Given the description of an element on the screen output the (x, y) to click on. 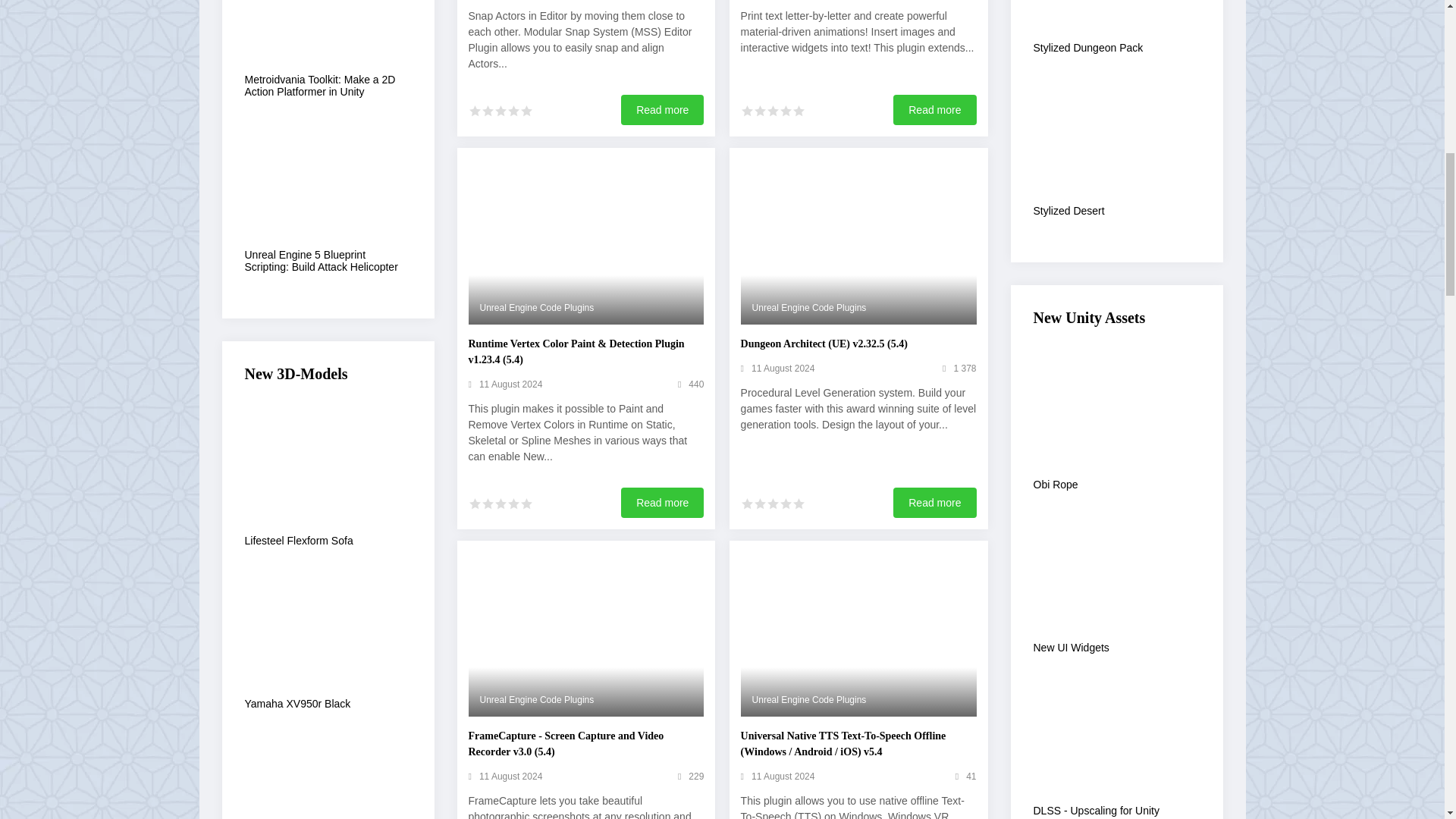
2 (760, 110)
1 (474, 503)
Excellent (525, 110)
Read more (662, 110)
5 (798, 110)
4 (512, 503)
Fair (500, 110)
4 (512, 110)
Read more (934, 110)
2 (486, 110)
